Given the description of an element on the screen output the (x, y) to click on. 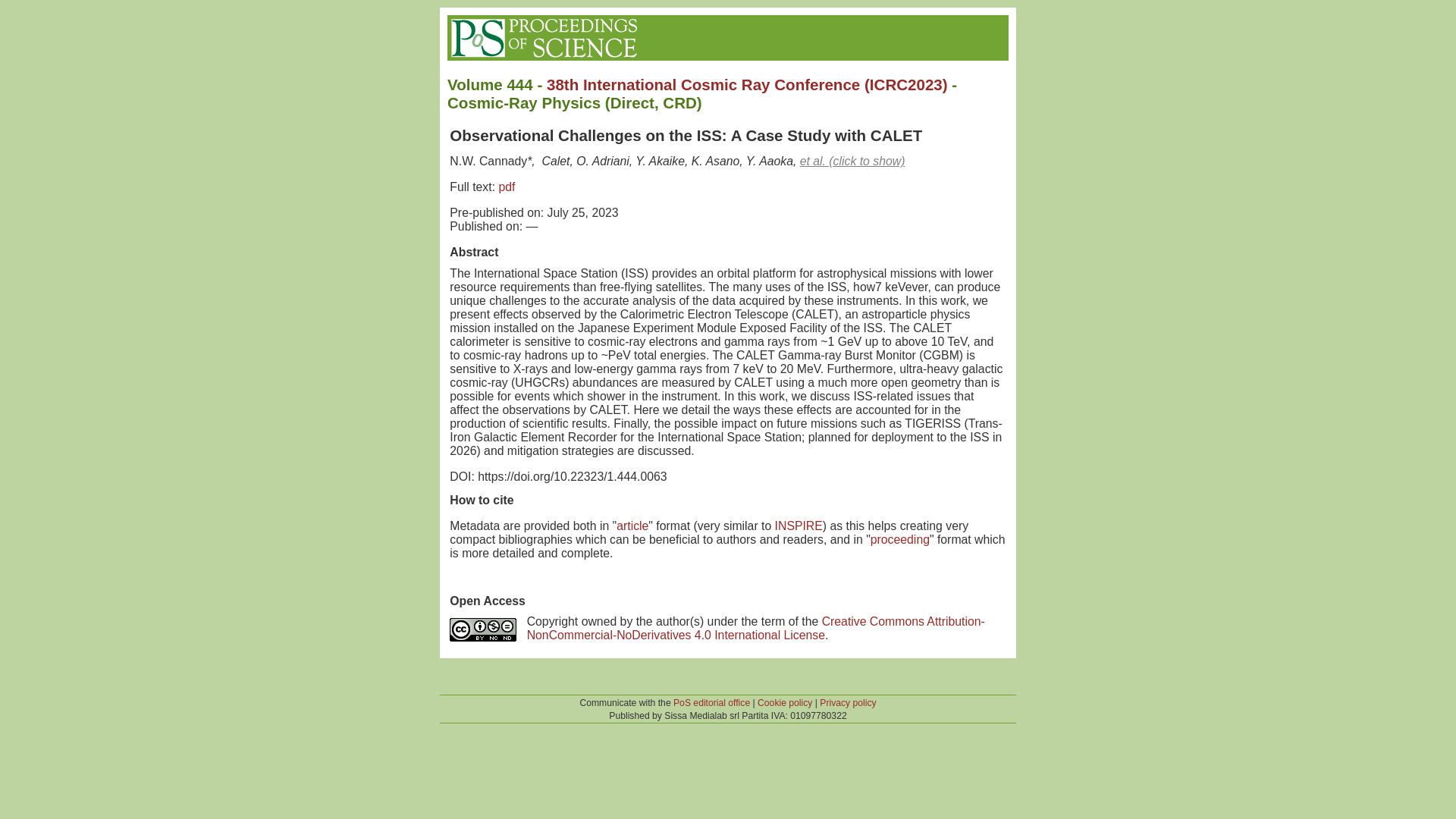
article (631, 525)
Cookie policy (784, 702)
Privacy policy (847, 702)
Corresponding author (488, 160)
PoS editorial office (710, 702)
Cookie policy (784, 702)
proceeding (900, 539)
pdf (506, 186)
Privacy policy (847, 702)
